Given the description of an element on the screen output the (x, y) to click on. 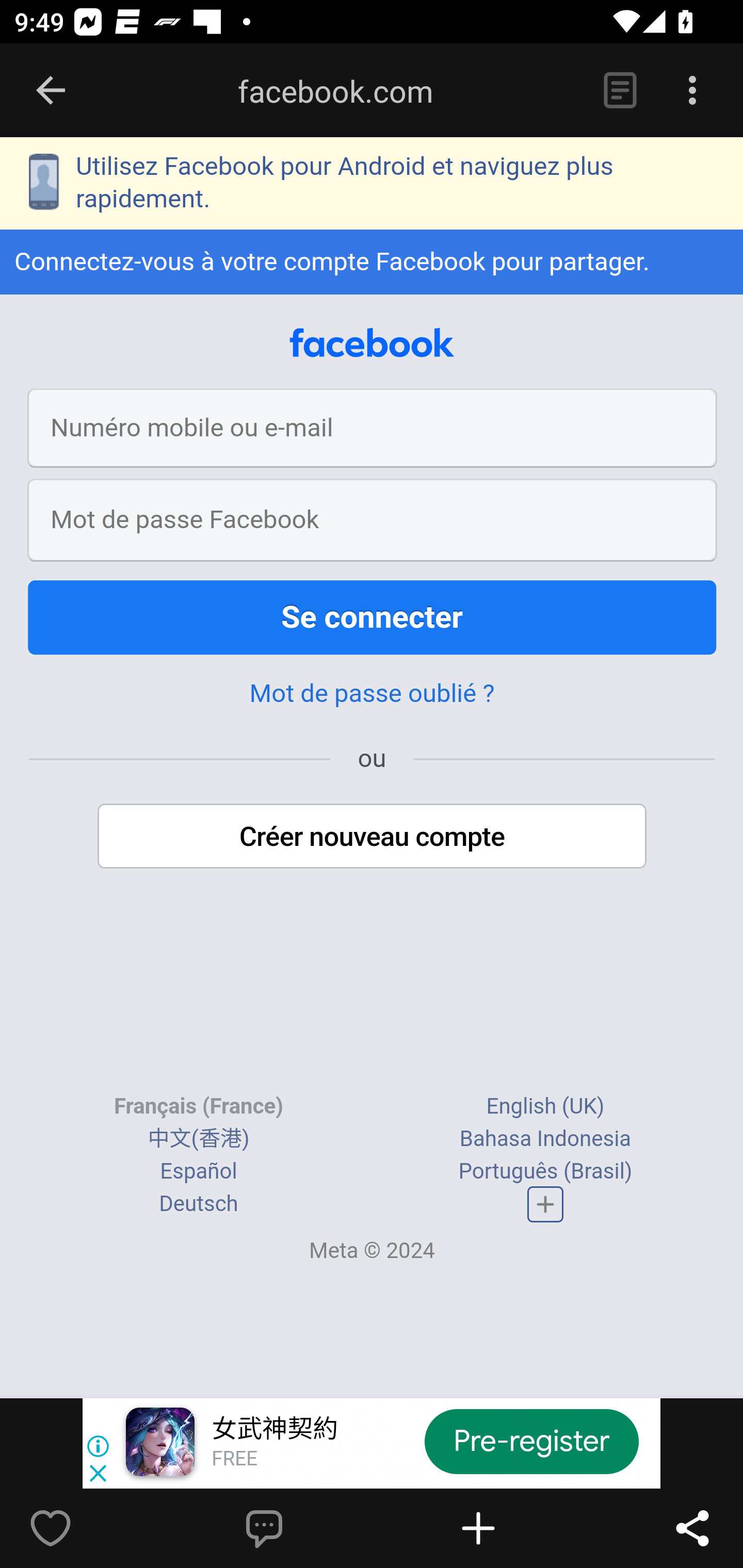
Back (50, 90)
Reader View (619, 90)
Options (692, 90)
facebook (372, 344)
Se connecter (372, 618)
Mot de passe oublié ? (371, 694)
Créer nouveau compte (372, 836)
English (UK) (544, 1107)
中文(香港) (198, 1139)
Bahasa Indonesia (545, 1139)
Español (198, 1171)
Português (Brasil) (544, 1171)
Liste complète des langues (545, 1204)
Deutsch (198, 1204)
Pre-register (530, 1441)
女武神契約 (274, 1429)
FREE (234, 1459)
Like (93, 1528)
Write a comment… (307, 1528)
Flip into Magazine (521, 1528)
Share (692, 1528)
